Given the description of an element on the screen output the (x, y) to click on. 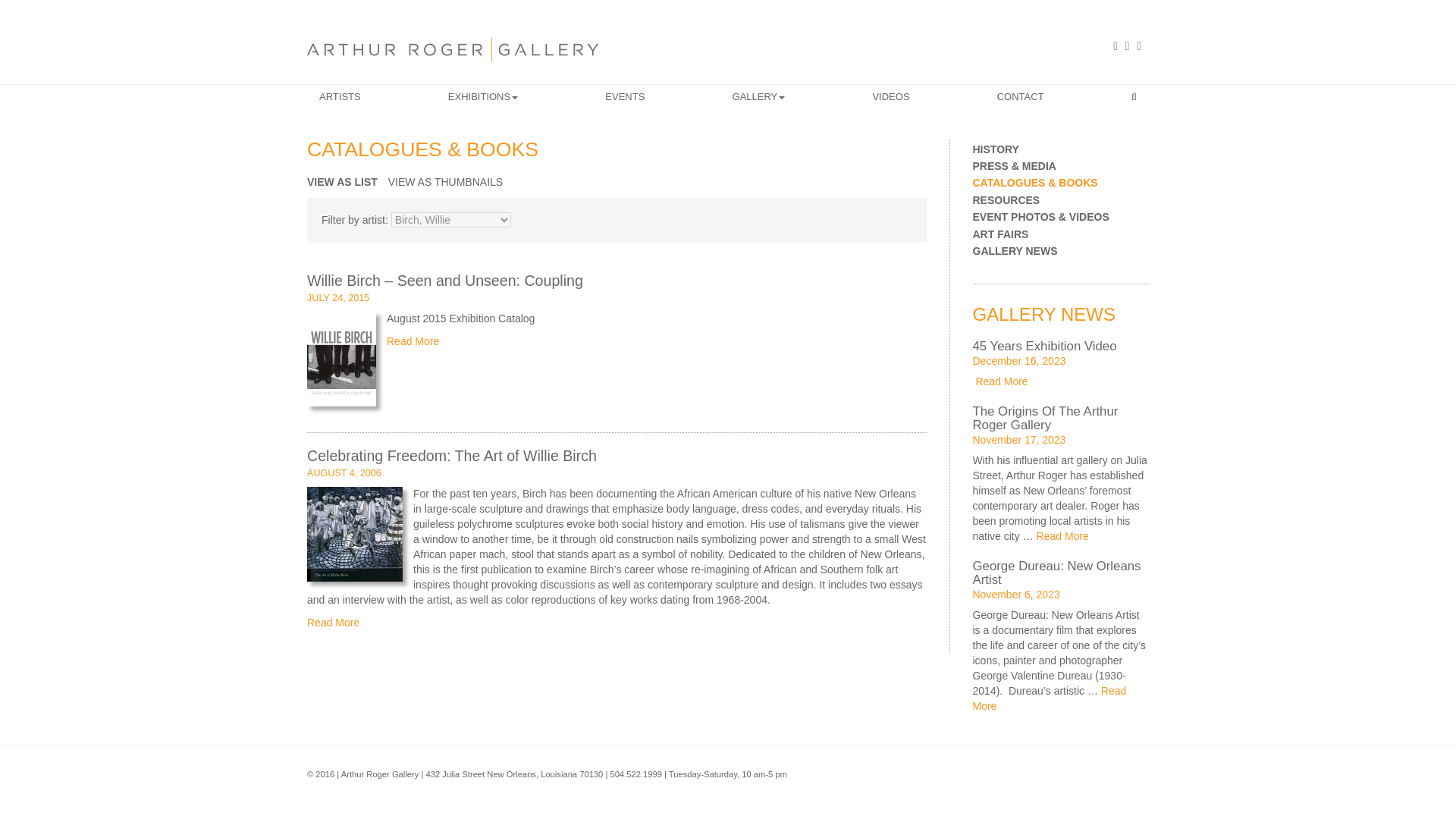
HISTORY (1060, 149)
VIEW AS THUMBNAILS (449, 185)
ARTISTS (339, 96)
Arthur Roger Gallery (453, 49)
Celebrating Freedom: The Art of Willie Birch (451, 455)
GALLERY (758, 96)
Read More (413, 340)
Read More (333, 622)
VIDEOS (890, 96)
Permalink to 45 Years Exhibition Video (1044, 345)
Permalink to George Dureau: New Orleans Artist (1056, 572)
EXHIBITIONS (482, 96)
EVENTS (625, 96)
CONTACT (1020, 96)
Permalink to The Origins Of The Arthur Roger Gallery (1045, 418)
